Given the description of an element on the screen output the (x, y) to click on. 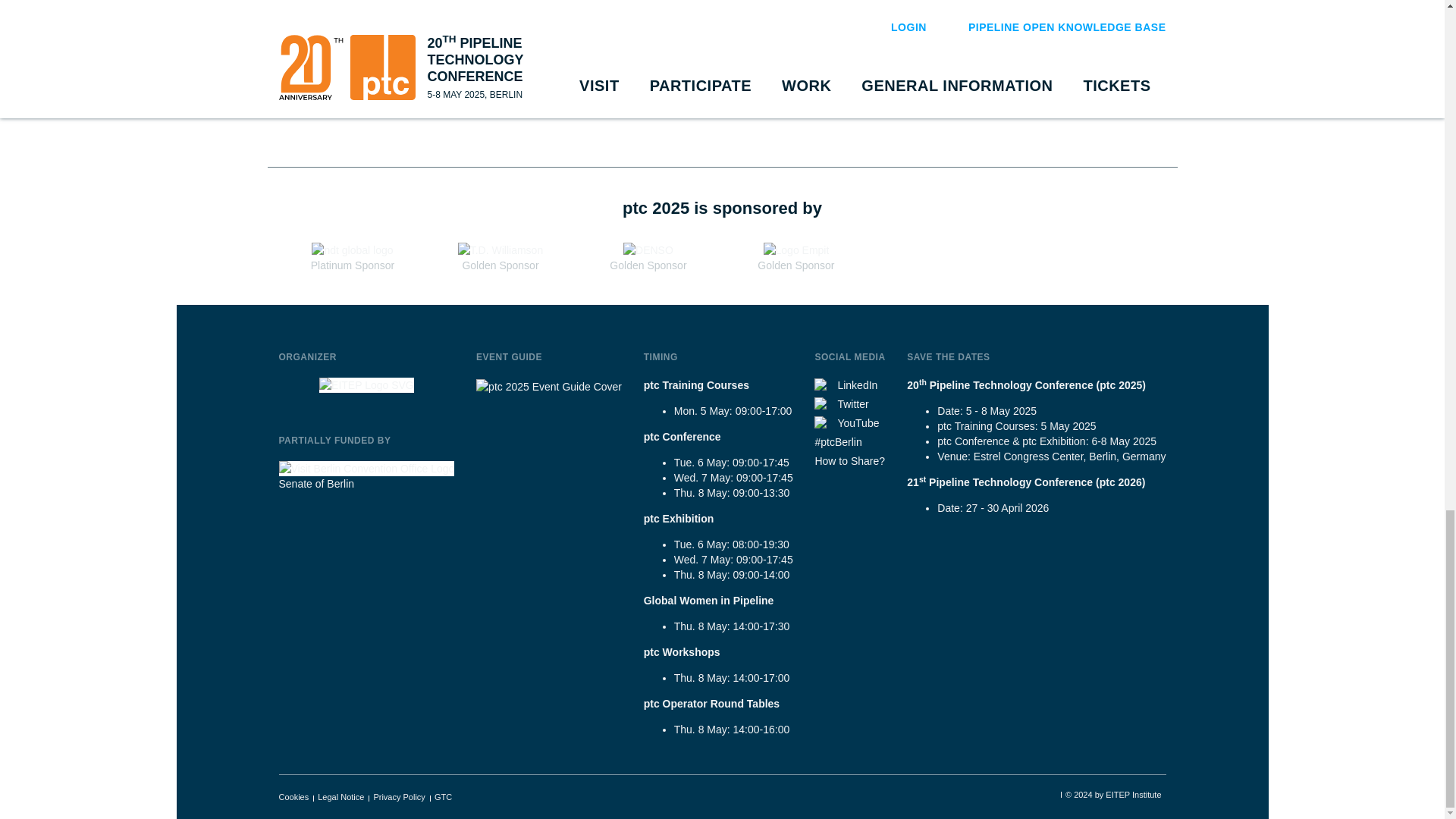
DENSO (647, 249)
T.D. Williamson (500, 249)
EITEP GTC (442, 796)
